Given the description of an element on the screen output the (x, y) to click on. 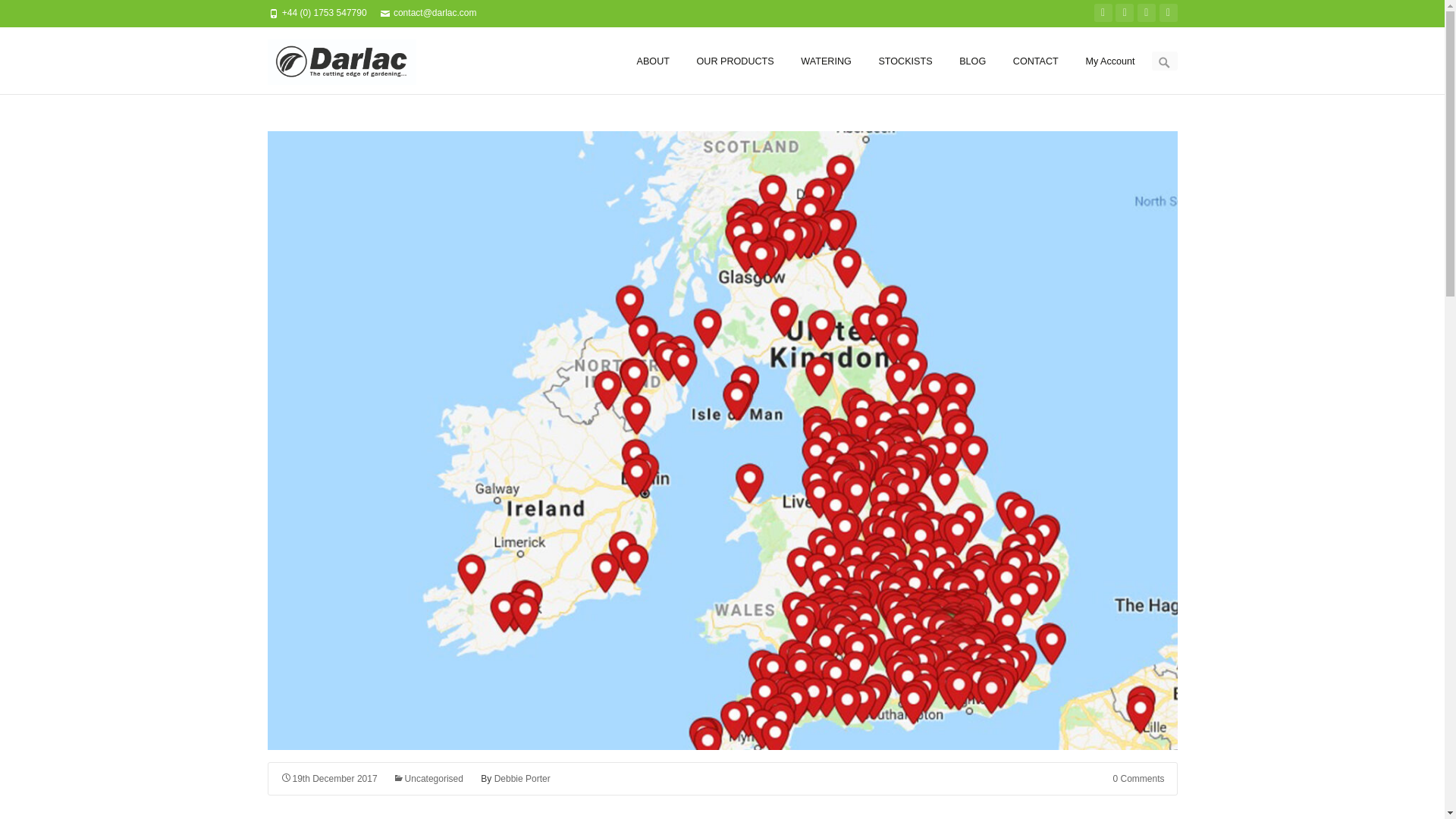
Debbie Porter (522, 778)
instagram (1146, 13)
19th December 2017 (329, 778)
Uncategorised (428, 778)
STOCKISTS (904, 61)
OUR PRODUCTS (735, 61)
0 Comments (1137, 778)
My Account (1109, 61)
facebook (1124, 13)
ABOUT (653, 61)
WATERING (825, 61)
Search for: (1163, 60)
CONTACT (1035, 61)
